Given the description of an element on the screen output the (x, y) to click on. 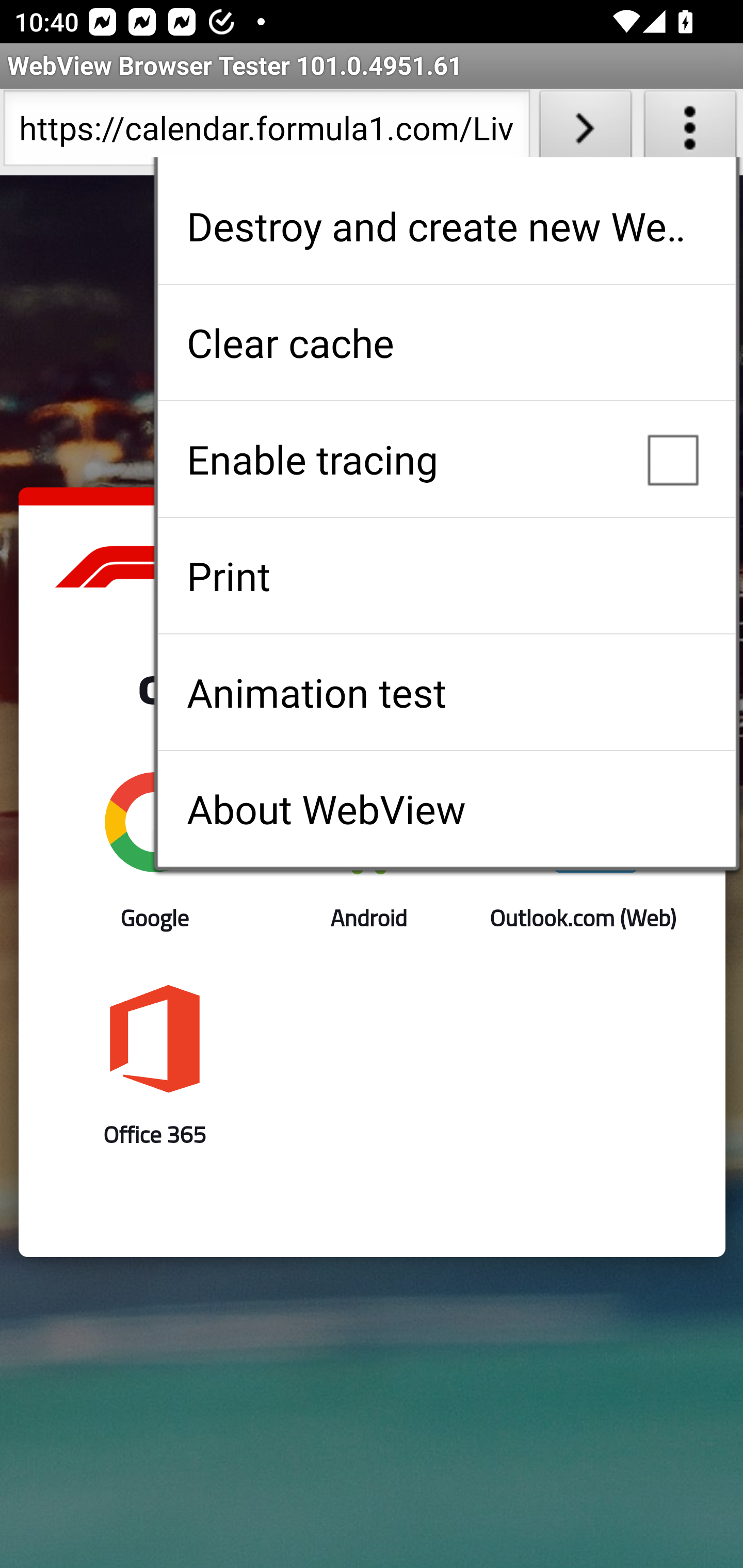
Destroy and create new WebView (446, 225)
Clear cache (446, 342)
Enable tracing (446, 459)
Print (446, 575)
Animation test (446, 692)
About WebView (446, 809)
